Given the description of an element on the screen output the (x, y) to click on. 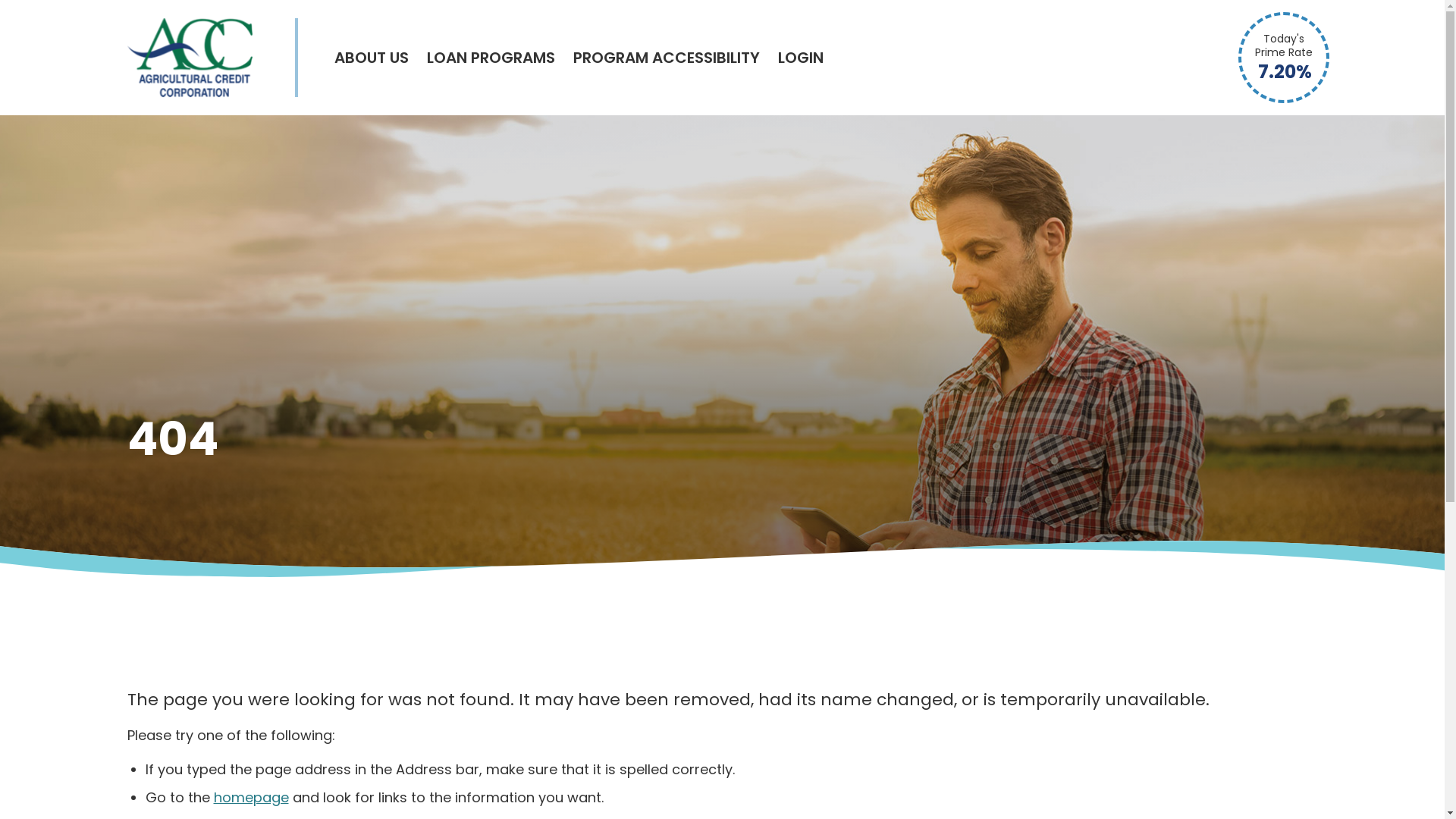
PROGRAM ACCESSIBILITY Element type: text (666, 57)
homepage Element type: text (250, 796)
LOGIN Element type: text (800, 57)
ABOUT US Element type: text (370, 57)
LOAN PROGRAMS Element type: text (490, 57)
